Given the description of an element on the screen output the (x, y) to click on. 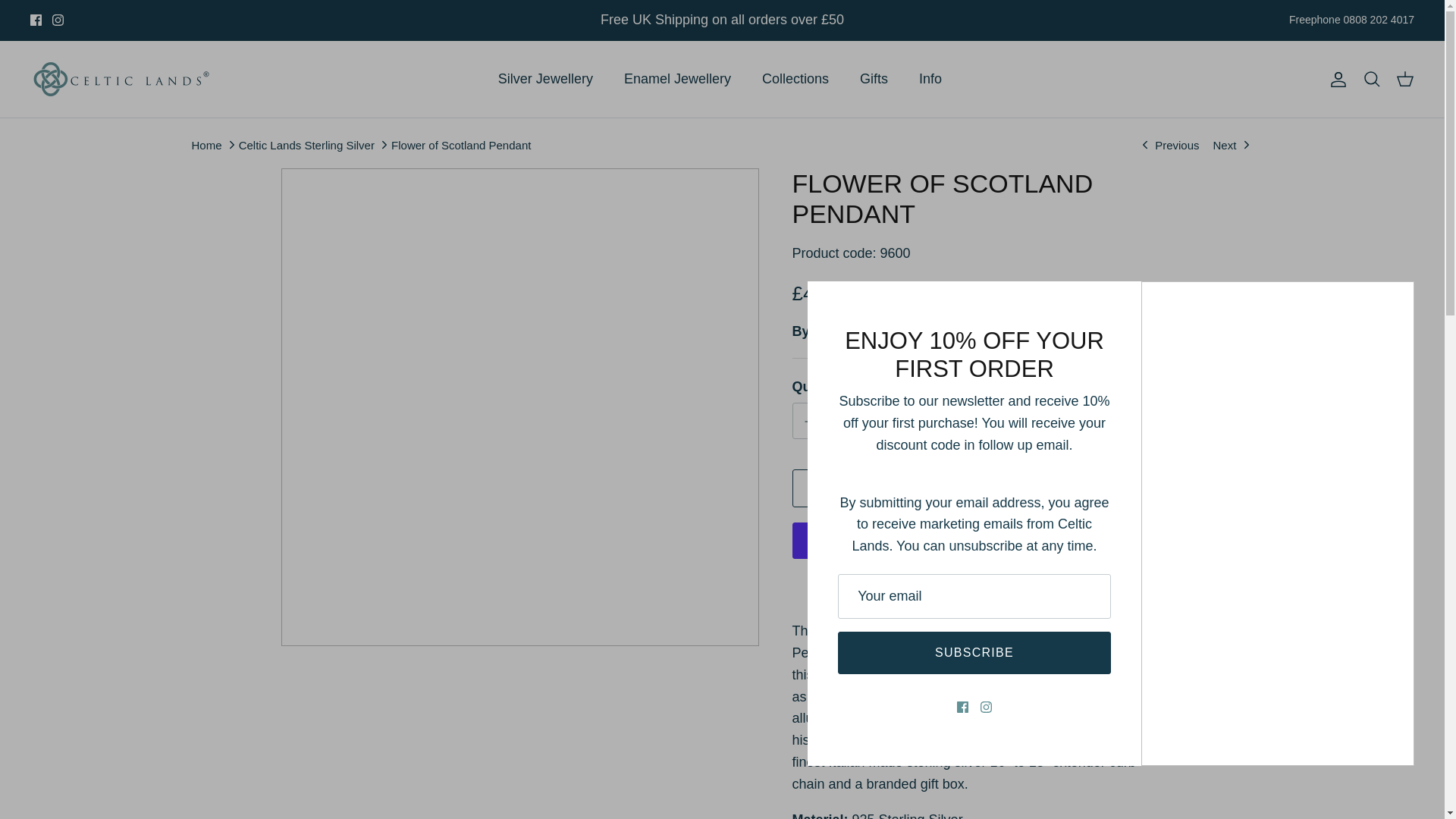
Plus (897, 421)
Gifts (873, 79)
Trinity Love Earrings (1168, 144)
Info (930, 79)
Enamel Jewellery (677, 79)
Minus (809, 421)
Collections (795, 79)
Flower of Scotland Earrings (1232, 144)
Instagram (58, 19)
Celtic Lands (121, 79)
Facebook (36, 19)
1 (853, 420)
Facebook (36, 19)
Search (1371, 78)
Freephone 0808 202 4017 (1350, 20)
